Given the description of an element on the screen output the (x, y) to click on. 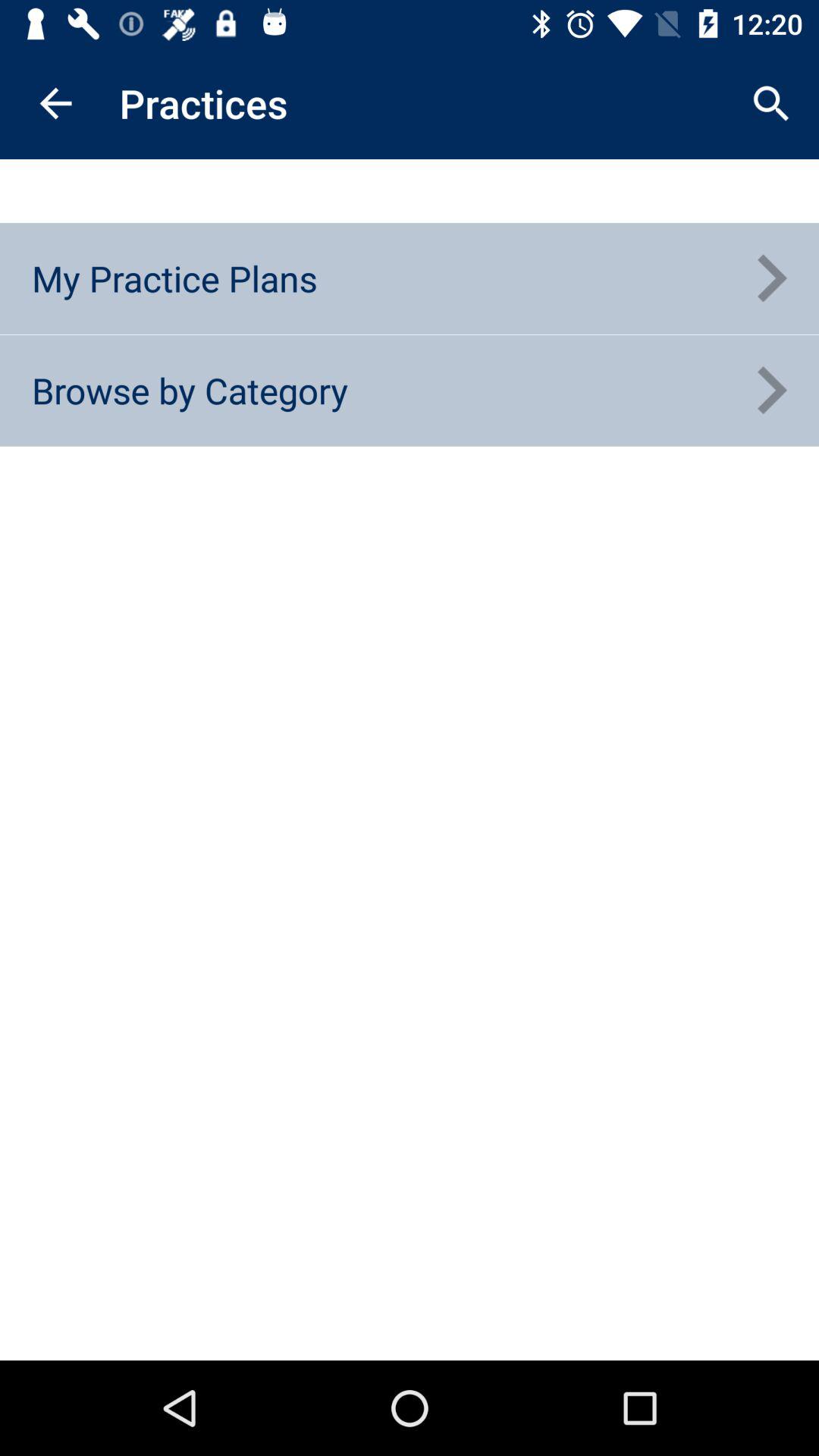
press my practice plans icon (174, 278)
